Given the description of an element on the screen output the (x, y) to click on. 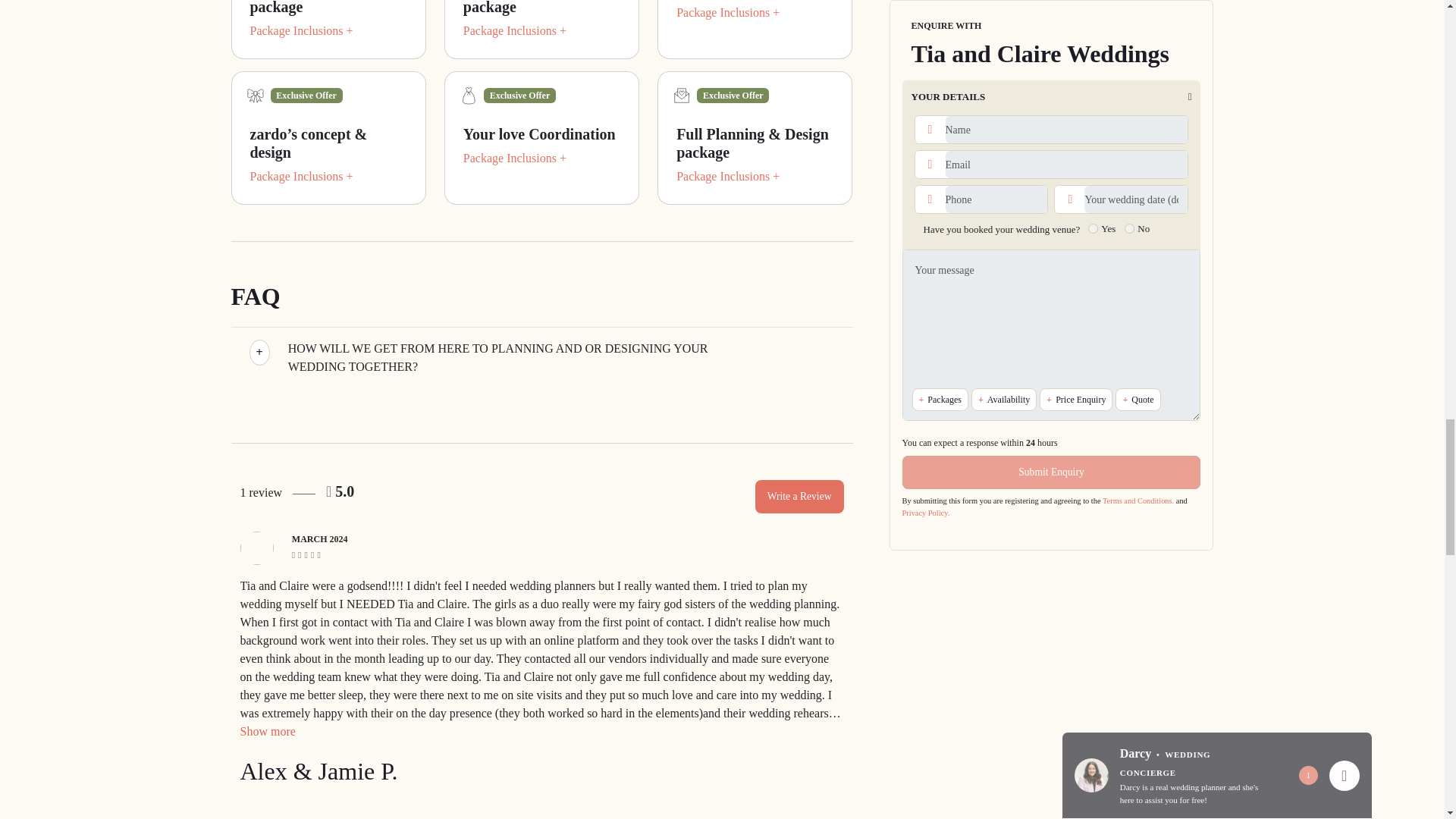
Write a Review (799, 496)
Package Inclusions (514, 30)
Package Inclusions (301, 30)
